Given the description of an element on the screen output the (x, y) to click on. 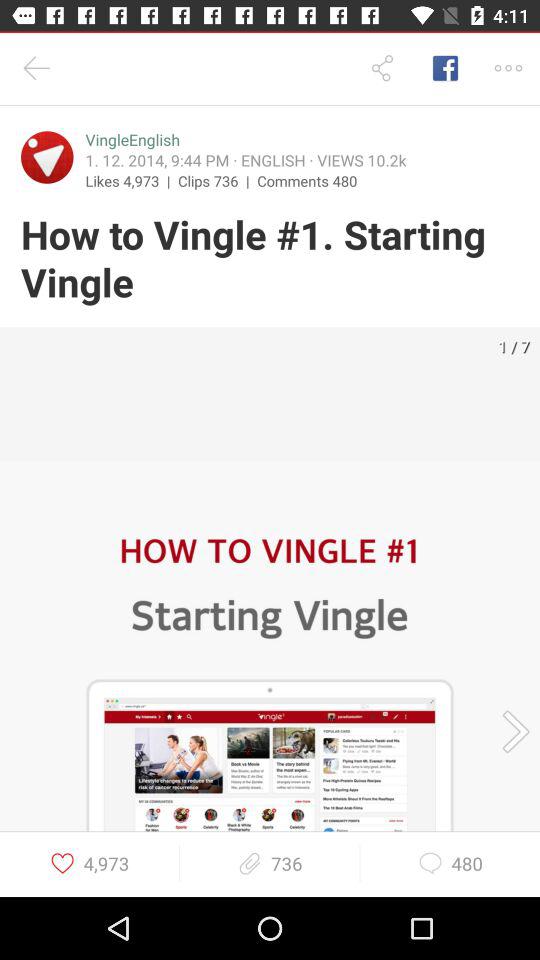
turn on the icon to the left of comments 480 icon (217, 180)
